Given the description of an element on the screen output the (x, y) to click on. 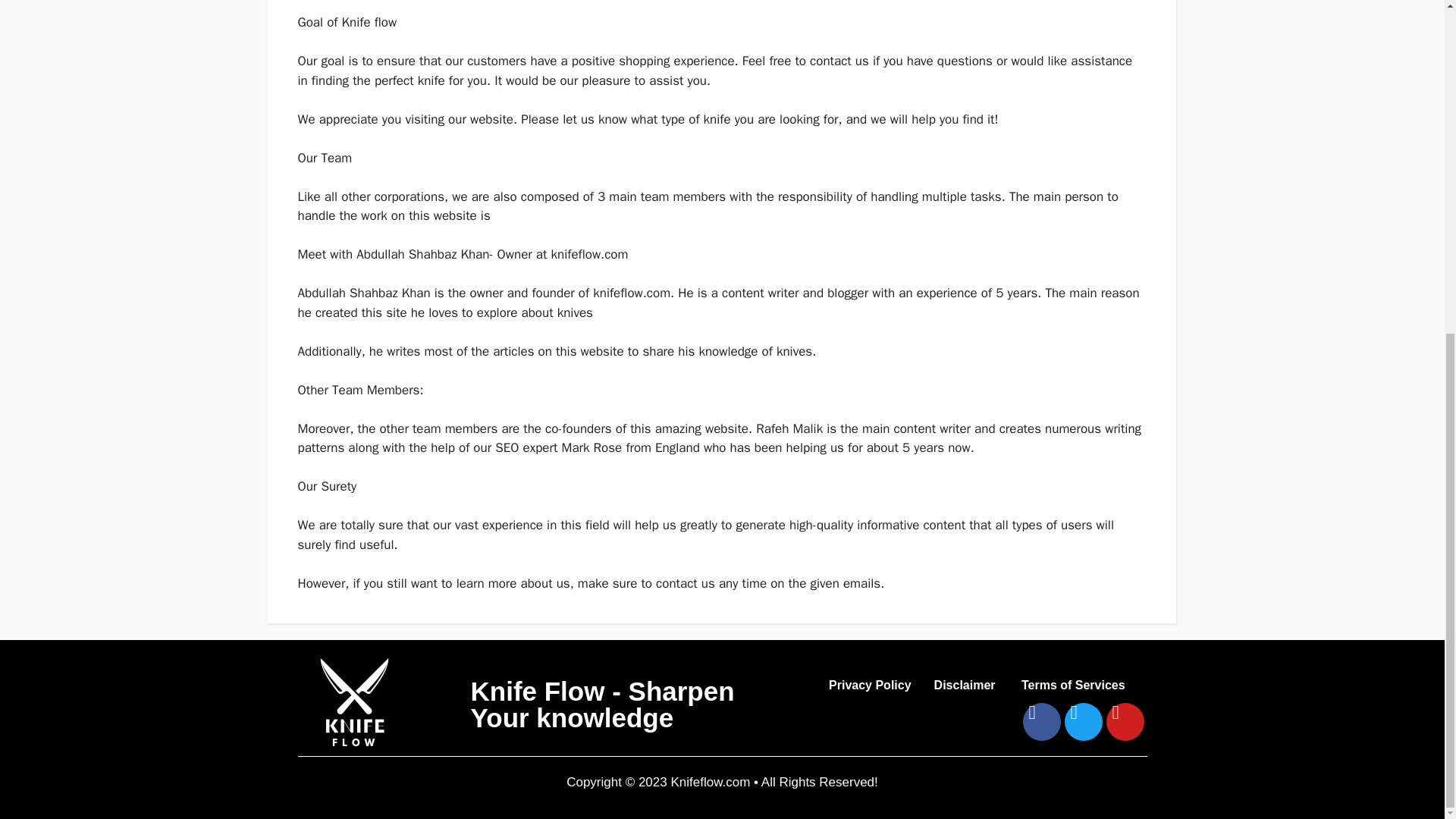
Terms of Services (1073, 685)
Disclaimer  (966, 685)
Privacy Policy (869, 685)
